Given the description of an element on the screen output the (x, y) to click on. 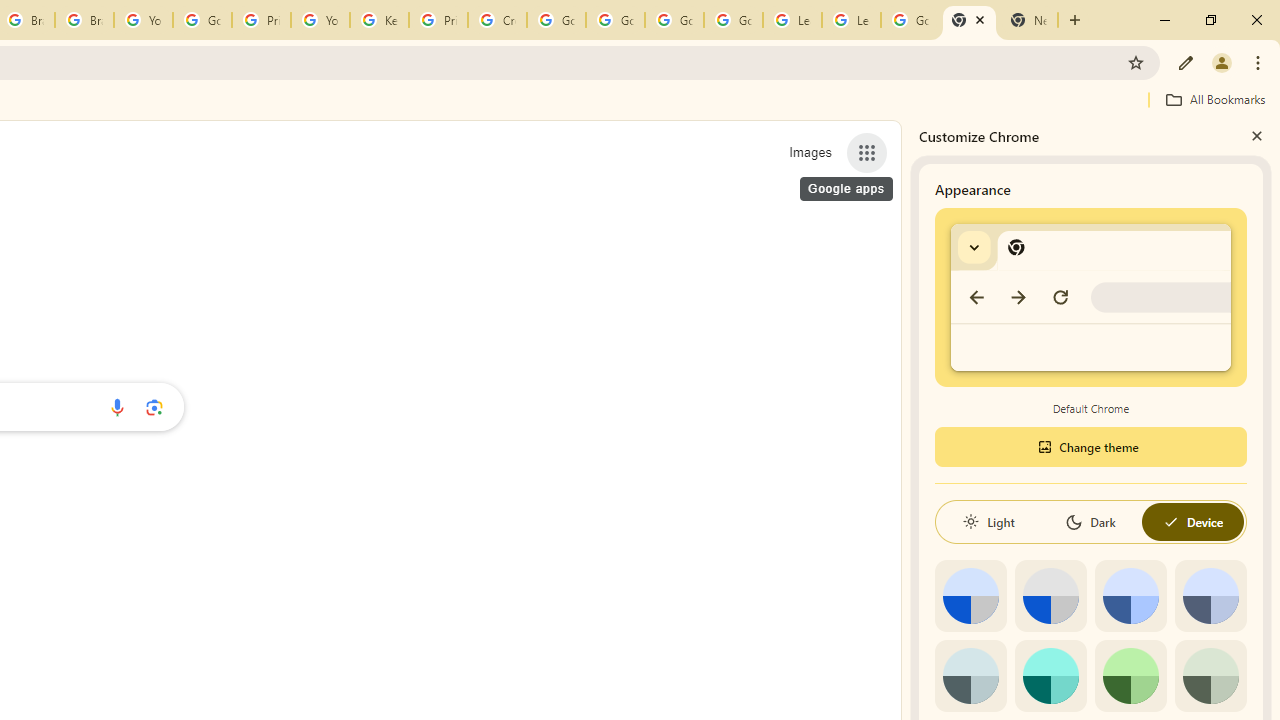
YouTube (142, 20)
Grey (970, 676)
Google Account Help (556, 20)
Search for Images  (810, 152)
Google Account Help (201, 20)
Change theme (1090, 446)
Google apps (867, 152)
Google Account Help (674, 20)
